Given the description of an element on the screen output the (x, y) to click on. 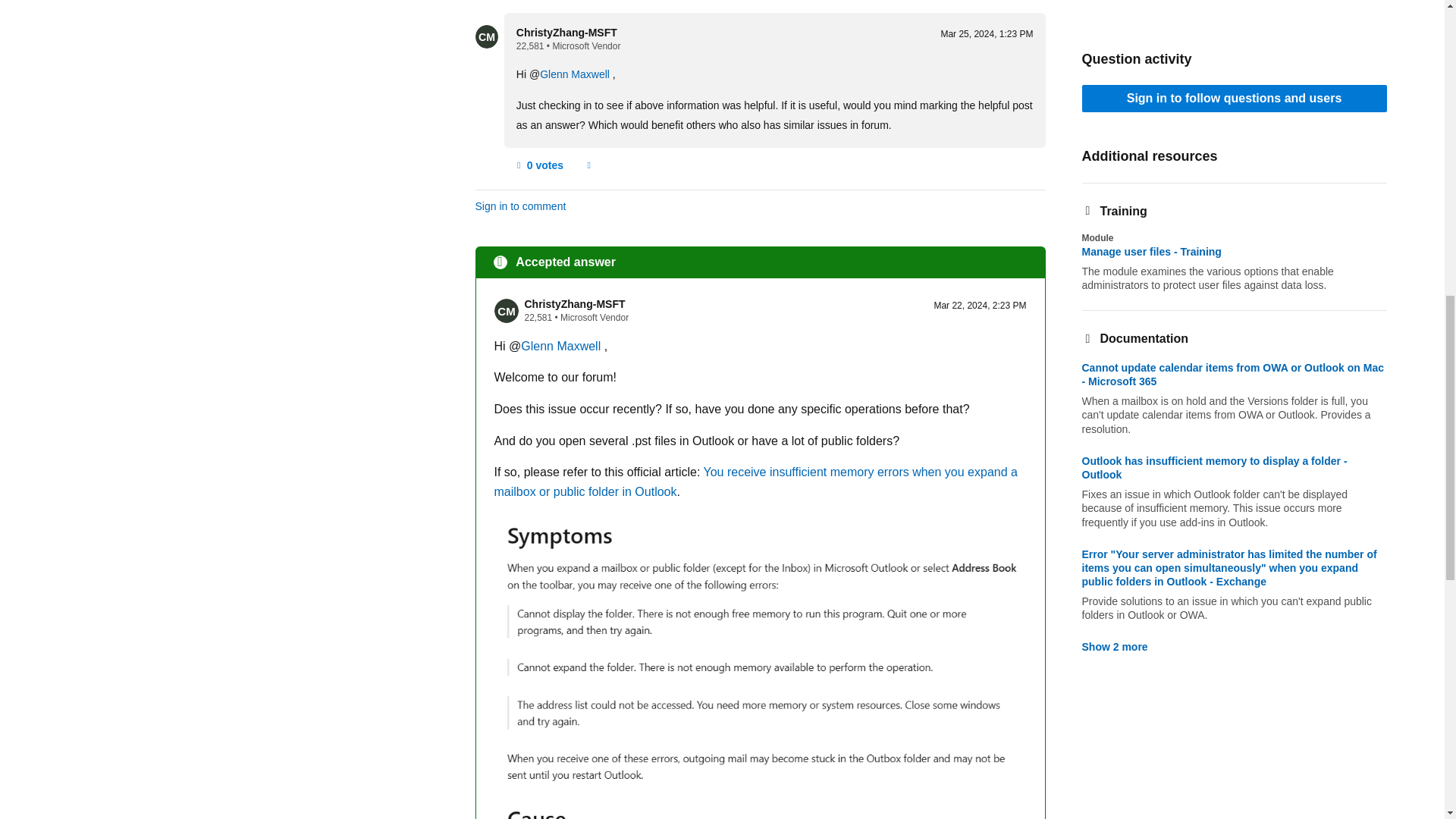
This comment is helpful (538, 165)
Reputation points (538, 317)
Report a concern (588, 165)
Reputation points (530, 45)
